Given the description of an element on the screen output the (x, y) to click on. 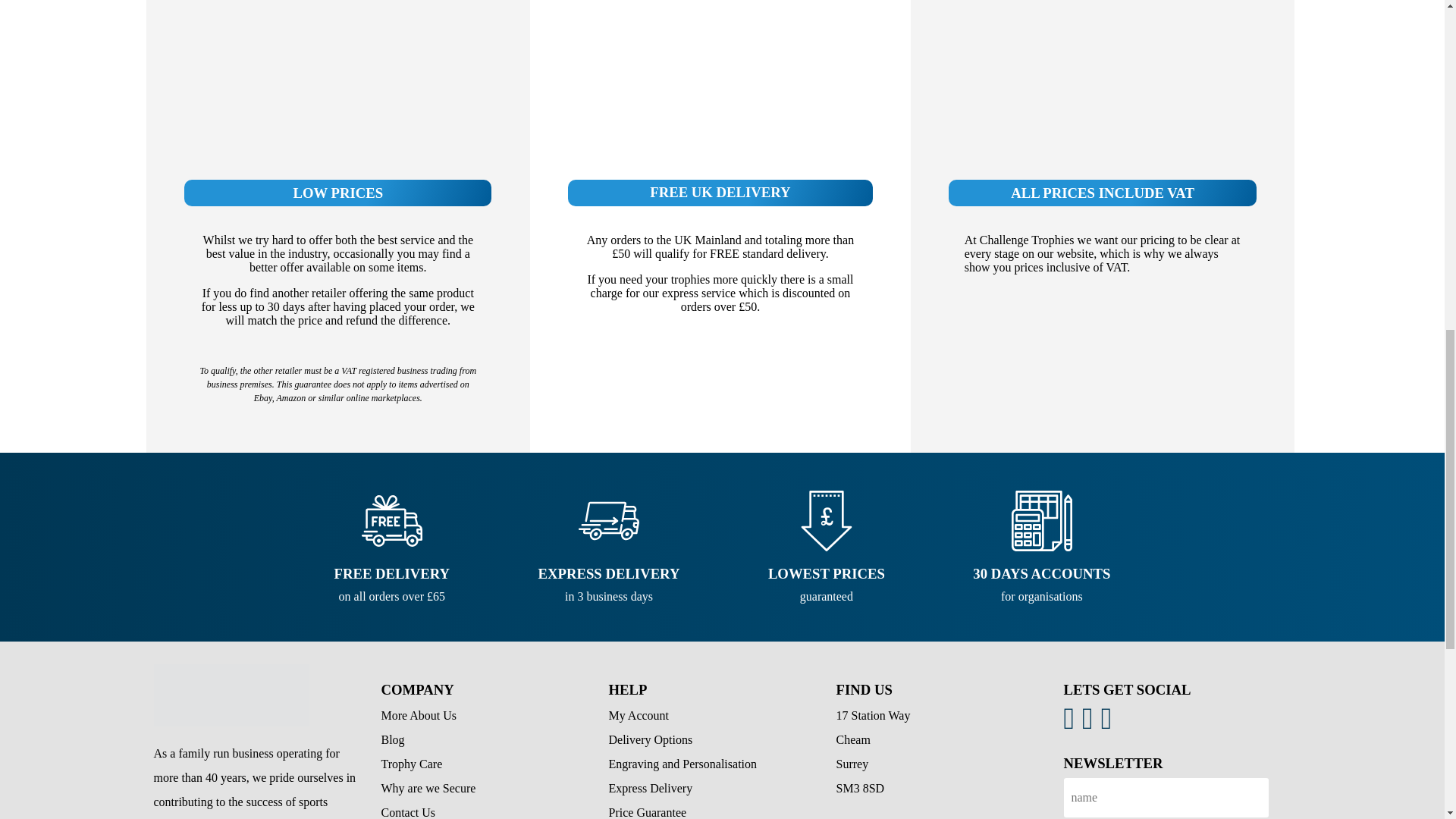
Price Guarantee (646, 812)
Blog (392, 739)
Why are we Secure (428, 788)
My Account (638, 715)
Engraving and Personalisation (682, 763)
Delivery Options (650, 739)
More About Us (418, 715)
Price Guarantee (230, 695)
Trophy Care (411, 763)
Express Delivery (650, 788)
